Given the description of an element on the screen output the (x, y) to click on. 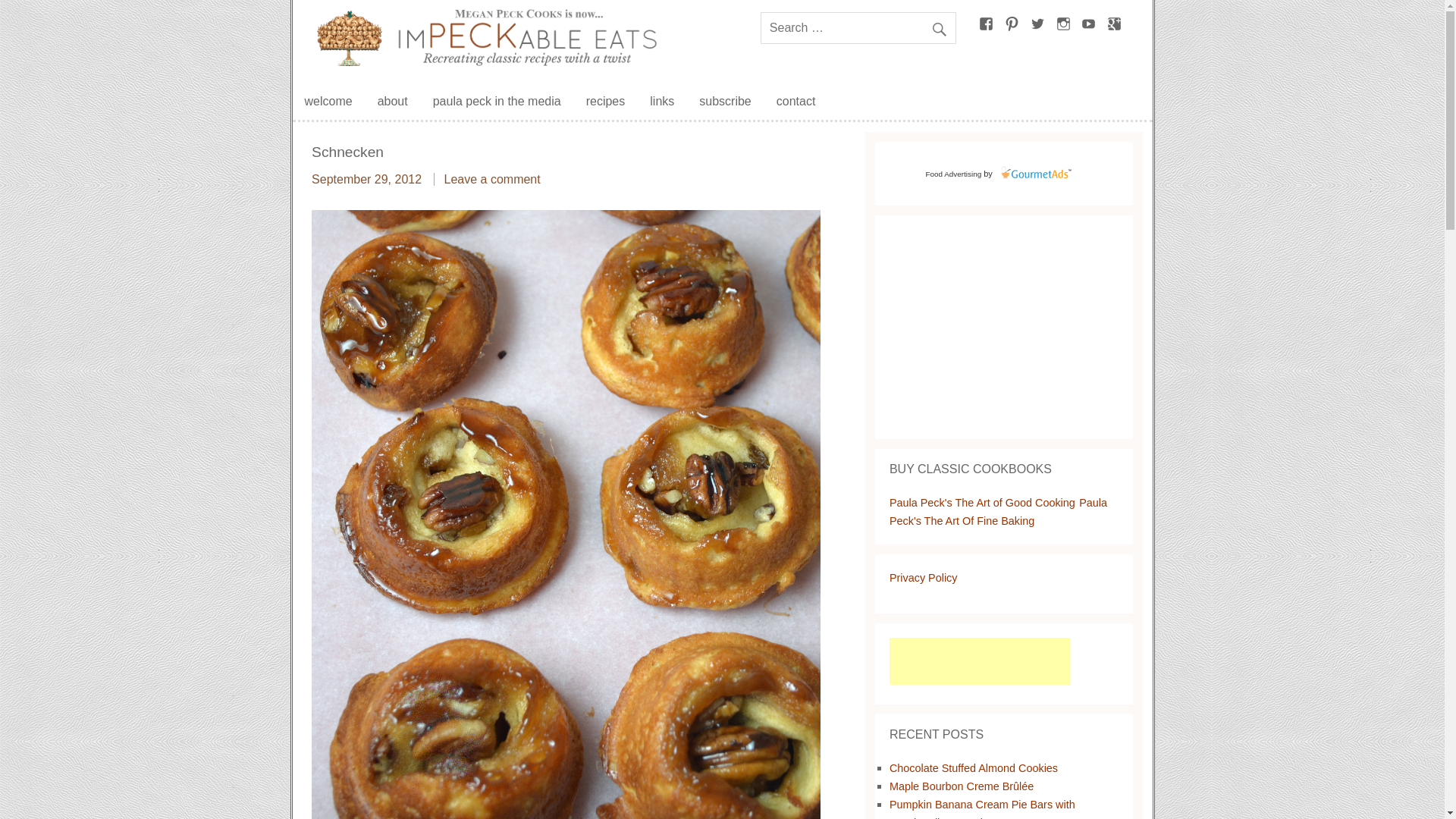
Pumpkin Banana Cream Pie Bars with Marshmallow Topping (982, 808)
Food Advertising (953, 173)
Advertisement (979, 660)
Food Advertising (953, 173)
1:31 pm (366, 178)
Chocolate Stuffed Almond Cookies (973, 767)
Privacy Policy (923, 577)
subscribe (724, 101)
Paula Peck's The Art of Good Cooking (982, 502)
links (661, 101)
September 29, 2012 (366, 178)
contact (796, 101)
recipes (605, 101)
Paula Peck's The Art Of Fine Baking (997, 511)
welcome (328, 101)
